Given the description of an element on the screen output the (x, y) to click on. 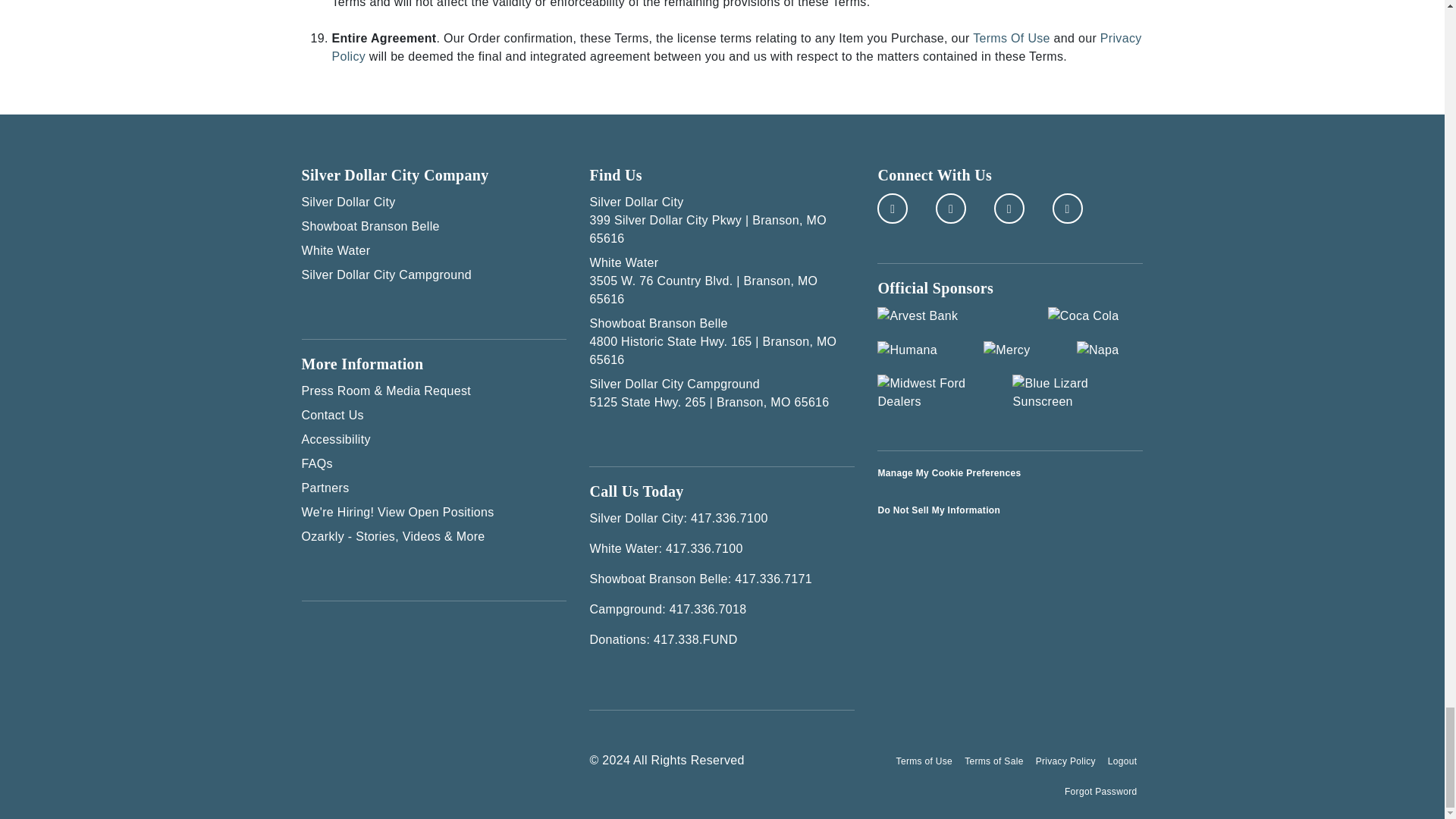
Press (434, 391)
